Given the description of an element on the screen output the (x, y) to click on. 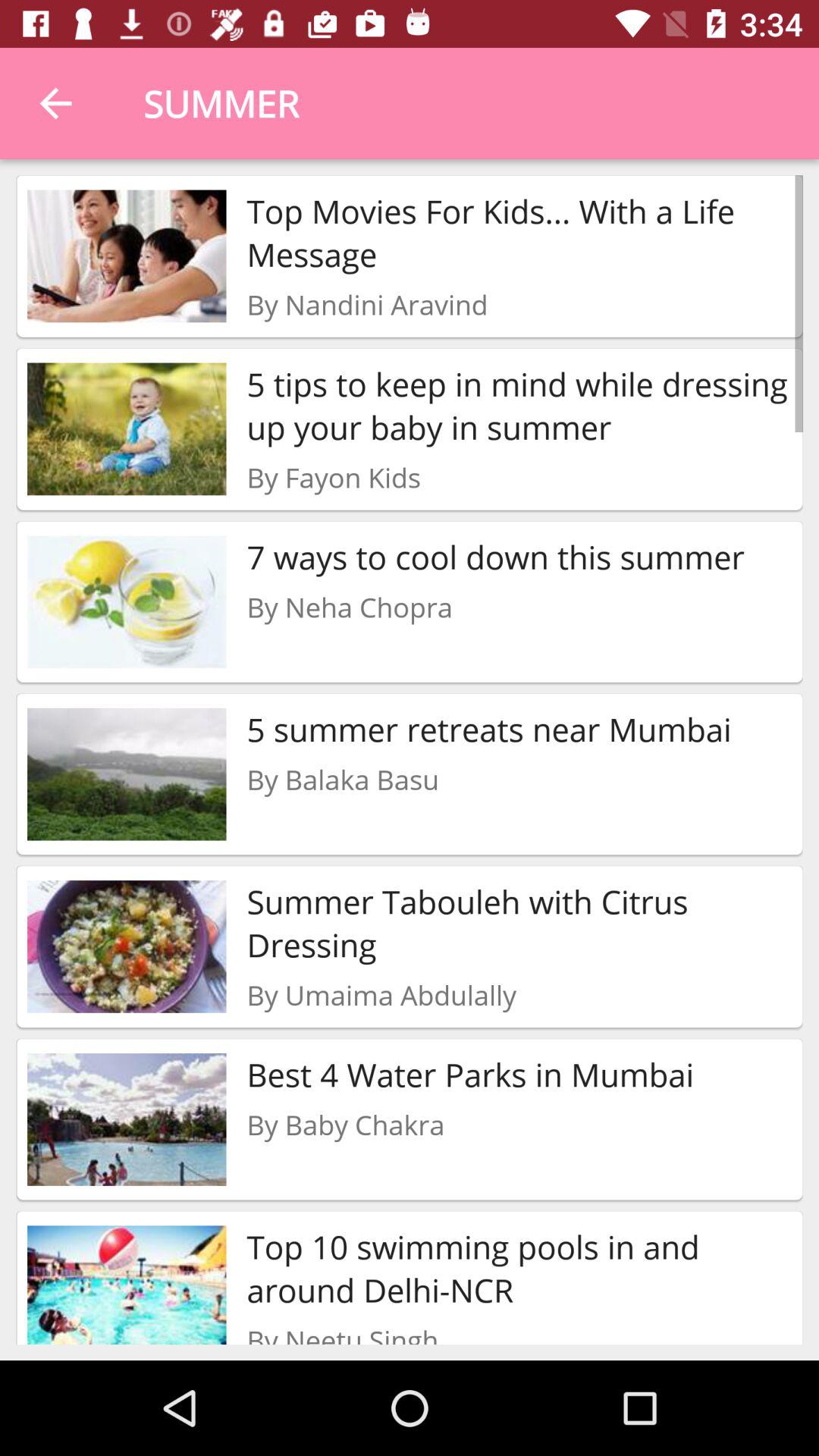
press the top 10 swimming item (519, 1268)
